Given the description of an element on the screen output the (x, y) to click on. 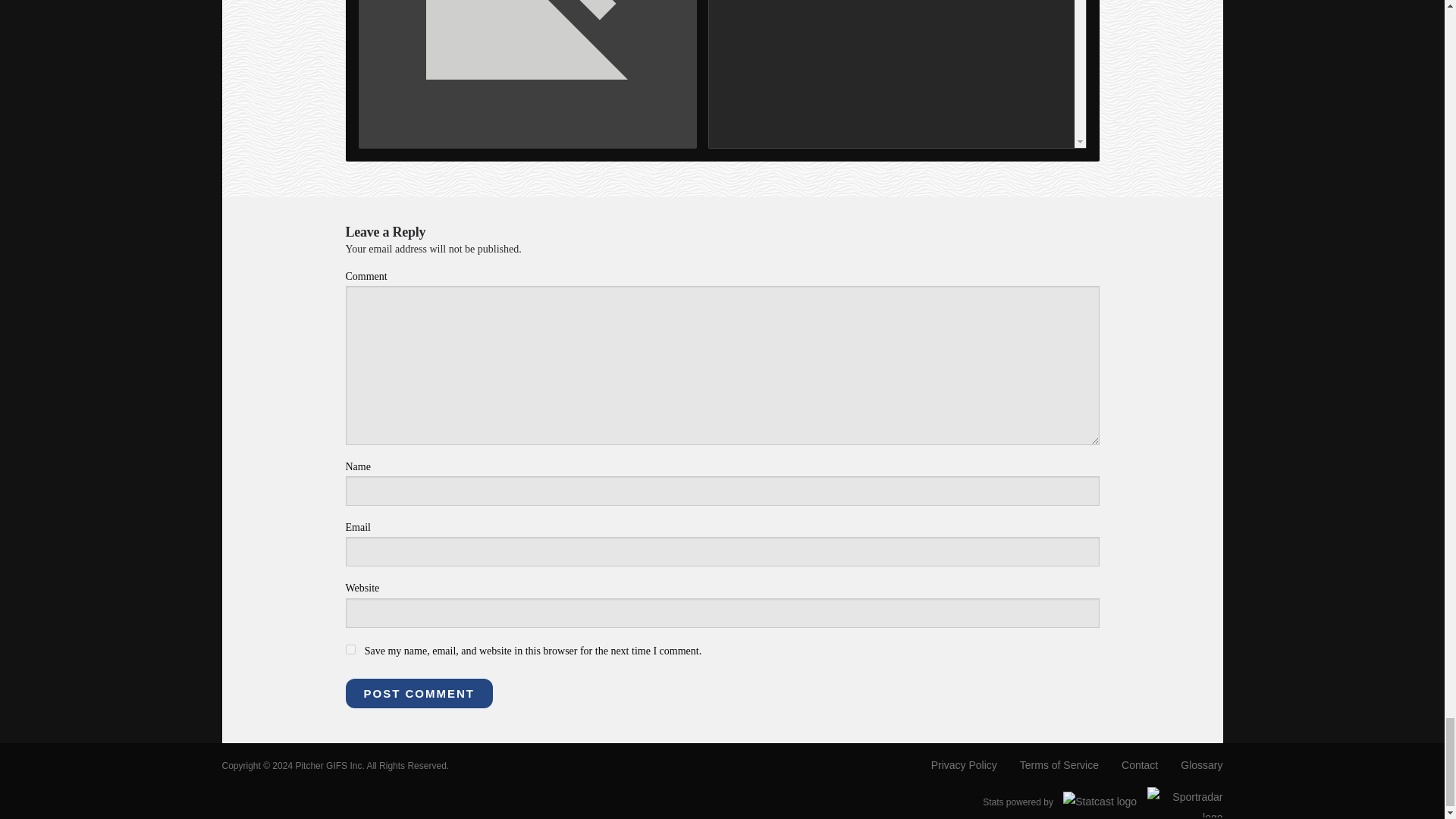
yes (350, 649)
Post Comment (419, 693)
